Given the description of an element on the screen output the (x, y) to click on. 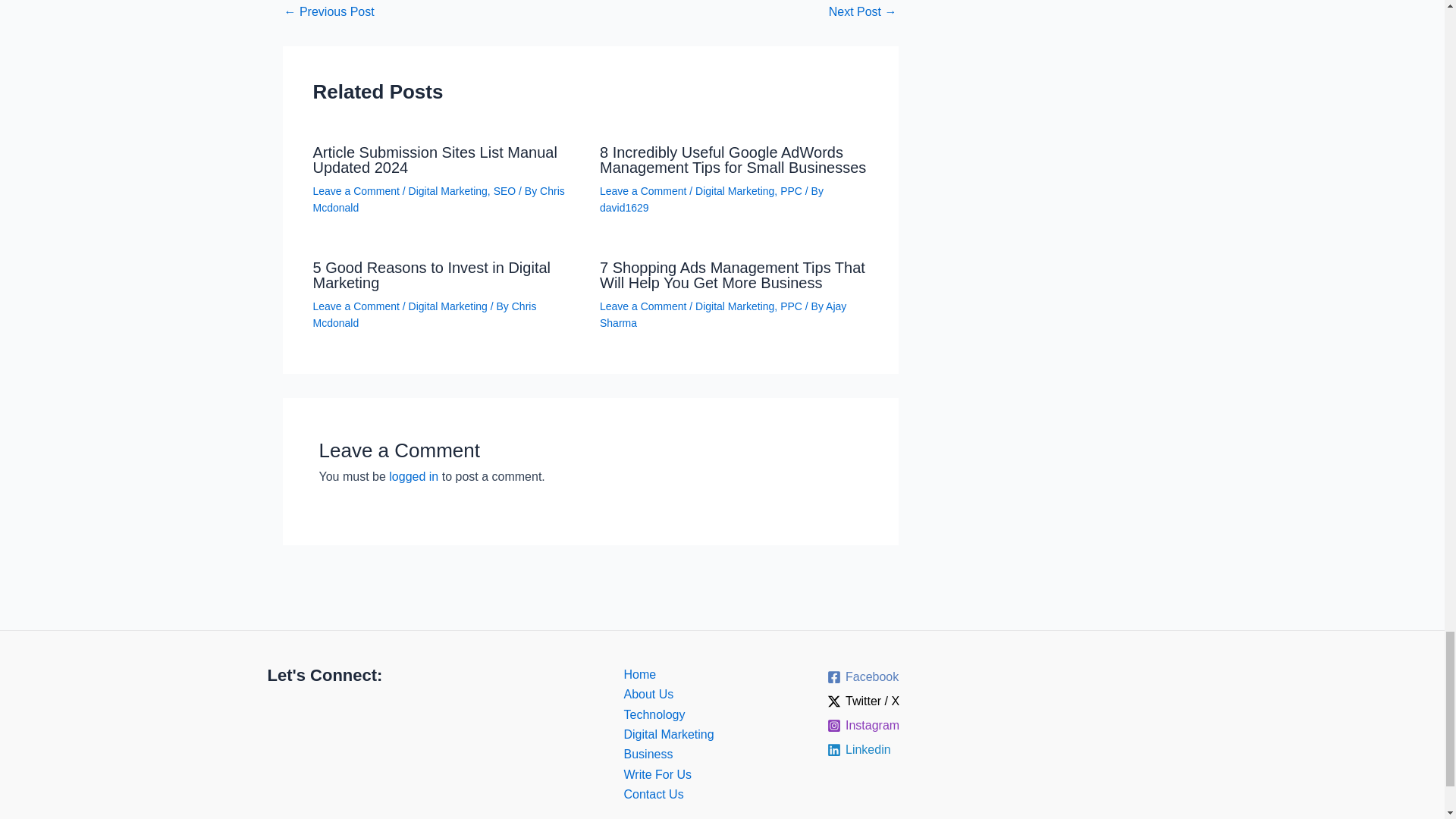
Article Submission Sites List Manual Updated 2024 (434, 160)
View all posts by Chris Mcdonald (424, 314)
SEO (504, 191)
Digital Marketing (448, 191)
View all posts by david1629 (624, 207)
Telemarketing Benefits over Traditional marketing (328, 11)
View all posts by Ajay Sharma (722, 314)
View all posts by Chris Mcdonald (438, 199)
Leave a Comment (355, 191)
